Given the description of an element on the screen output the (x, y) to click on. 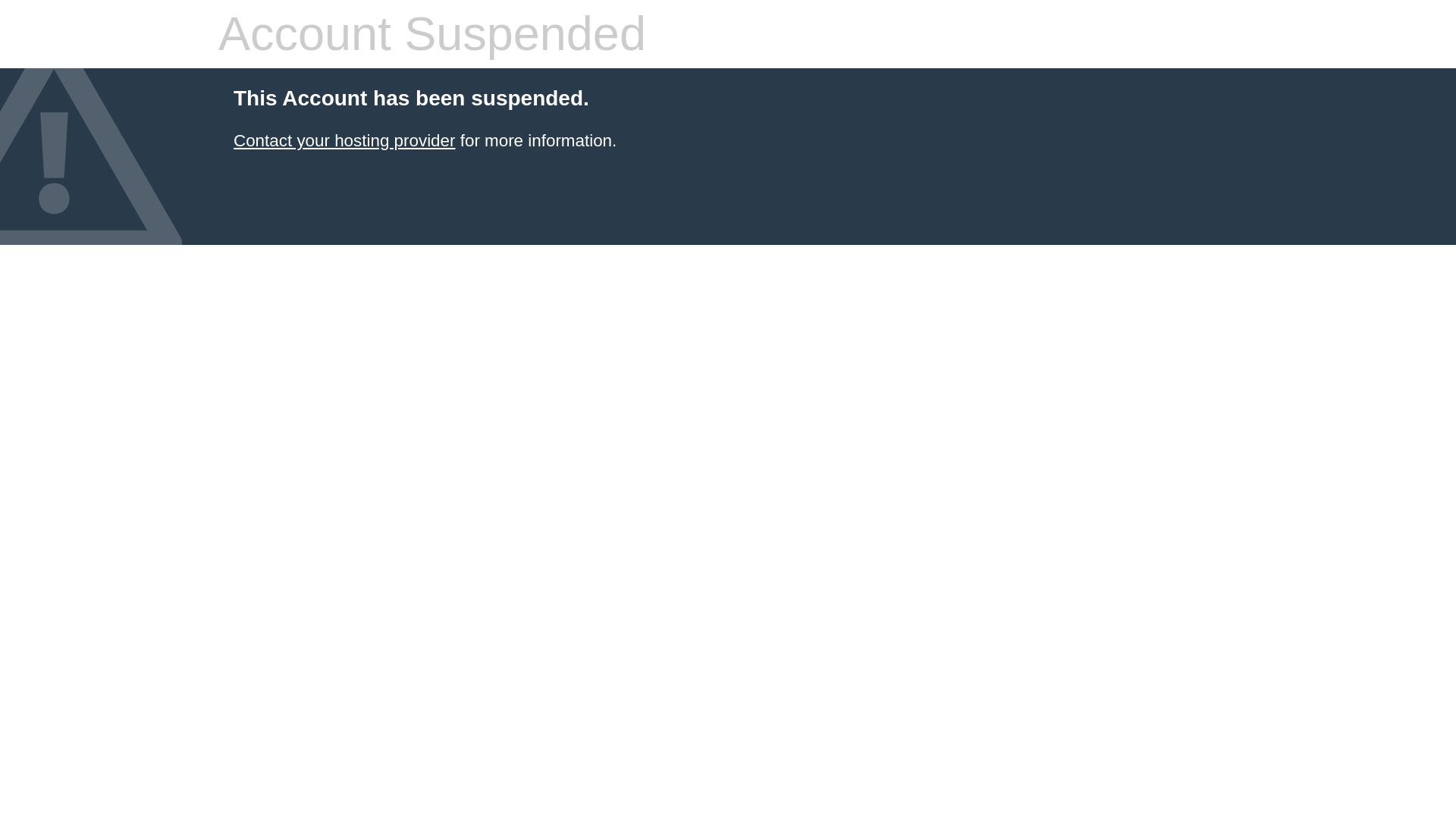
Contact your hosting provider (343, 140)
Server Planet (343, 140)
